Given the description of an element on the screen output the (x, y) to click on. 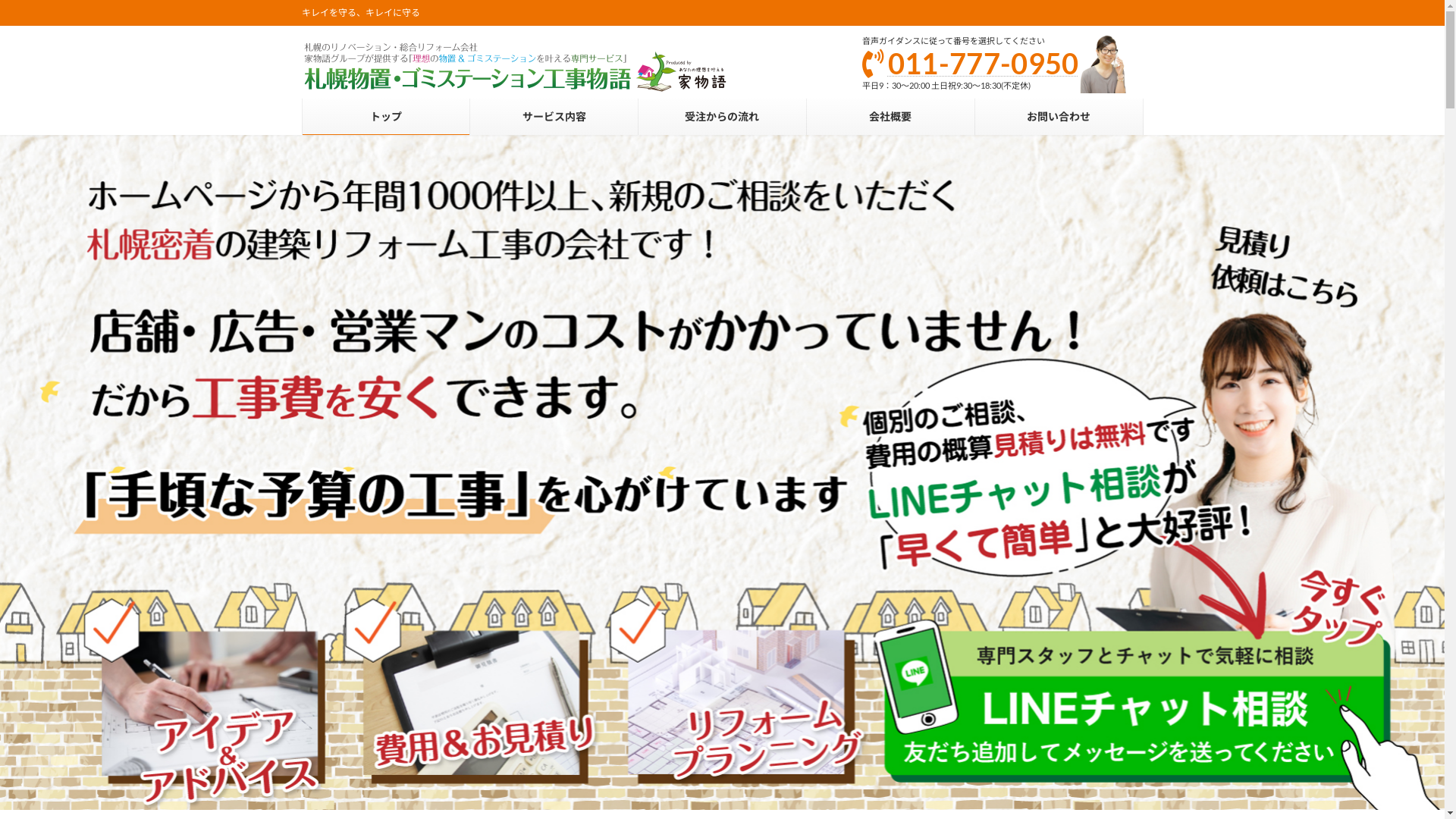
011-777-0950 Element type: text (983, 62)
